Given the description of an element on the screen output the (x, y) to click on. 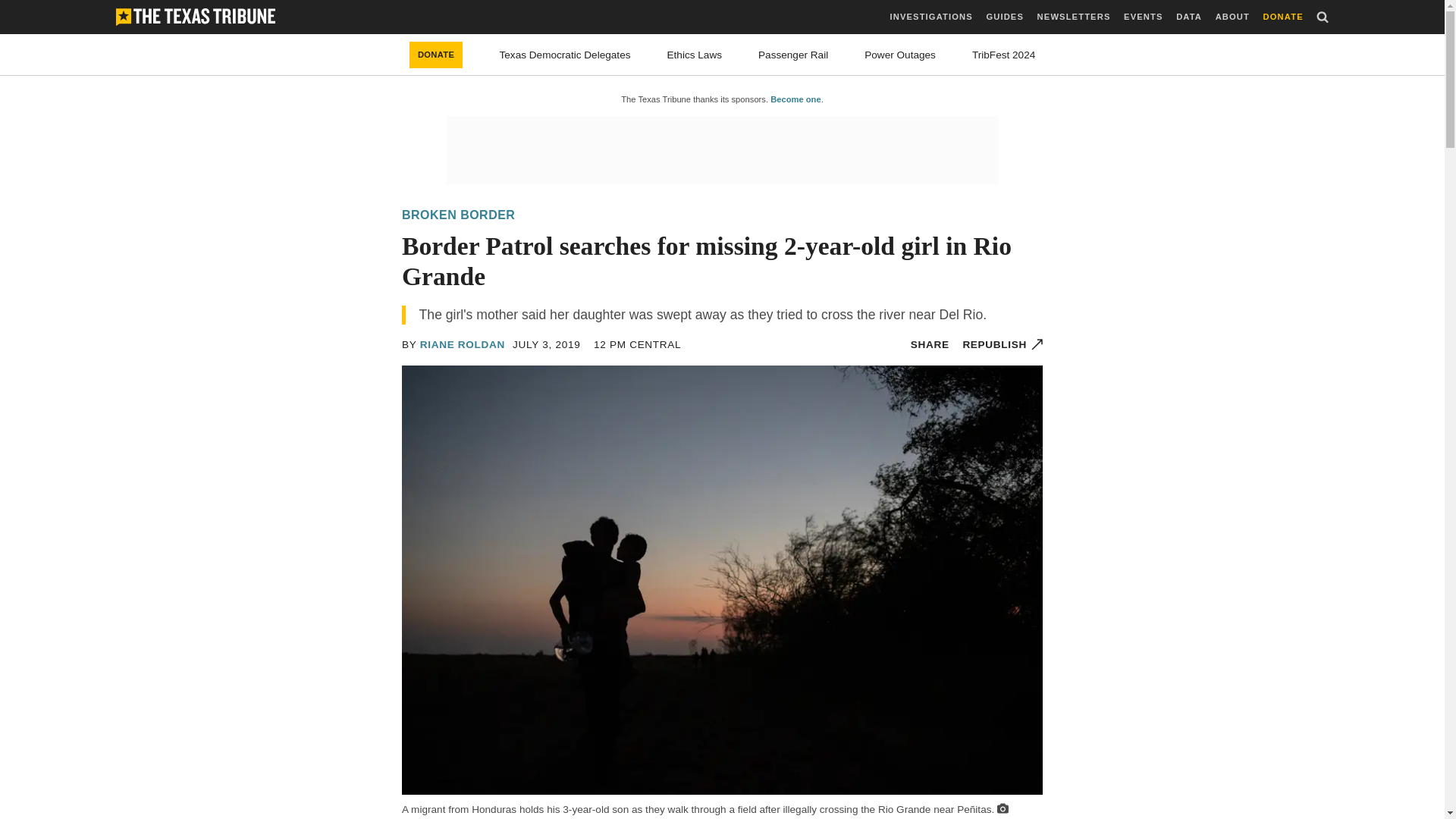
ABOUT (1232, 17)
GUIDES (1004, 17)
Passenger Rail (793, 54)
NEWSLETTERS (1073, 17)
2019-07-03 12:18 CDT (545, 344)
3rd party ad content (721, 150)
Ethics Laws (694, 54)
Power Outages (900, 54)
Become one (795, 99)
INVESTIGATIONS (930, 17)
EVENTS (1142, 17)
RIANE ROLDAN (462, 344)
Texas Democratic Delegates (564, 54)
BROKEN BORDER (458, 214)
TribFest 2024 (1003, 54)
